Given the description of an element on the screen output the (x, y) to click on. 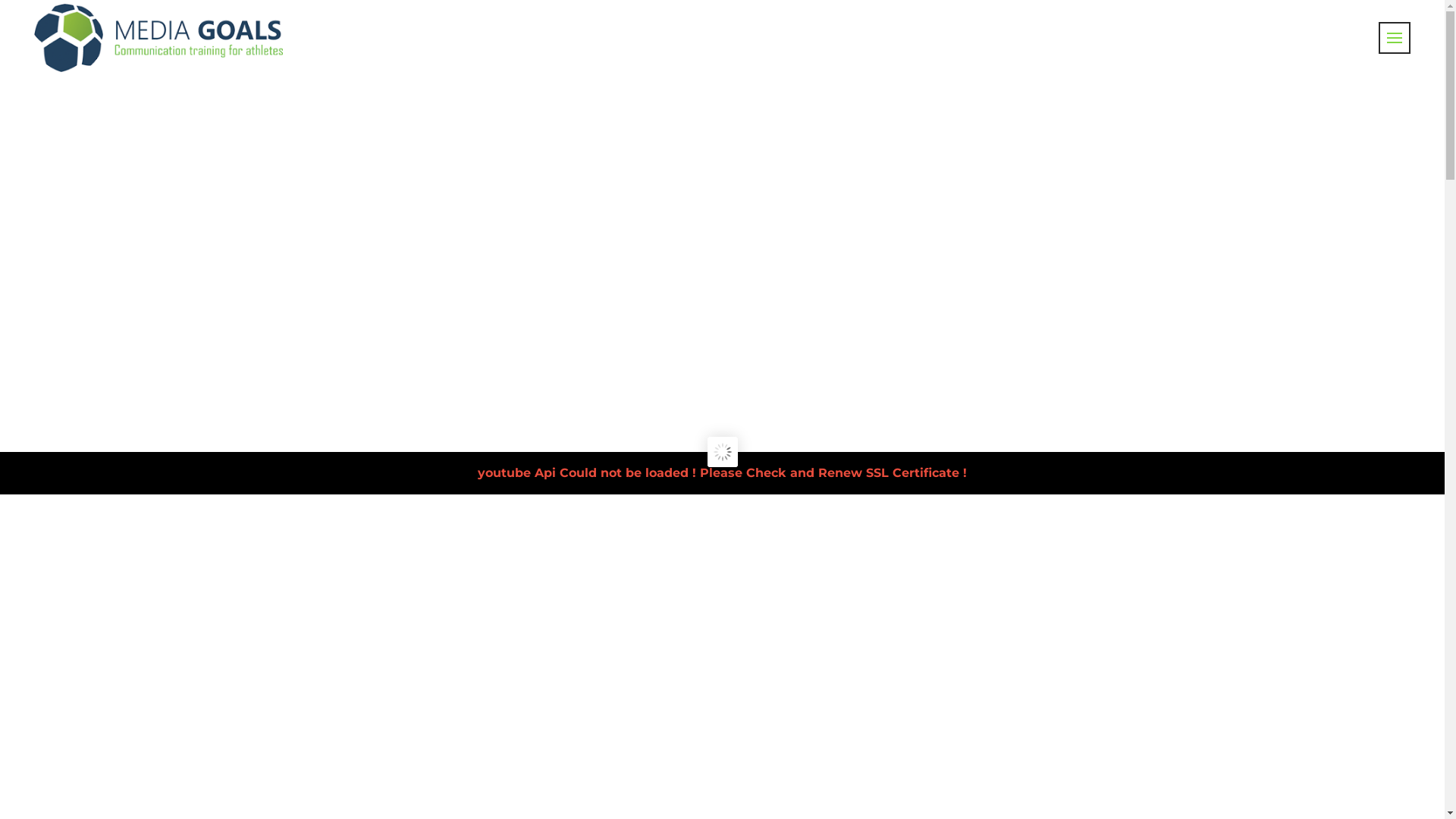
  Element type: text (1394, 37)
